Given the description of an element on the screen output the (x, y) to click on. 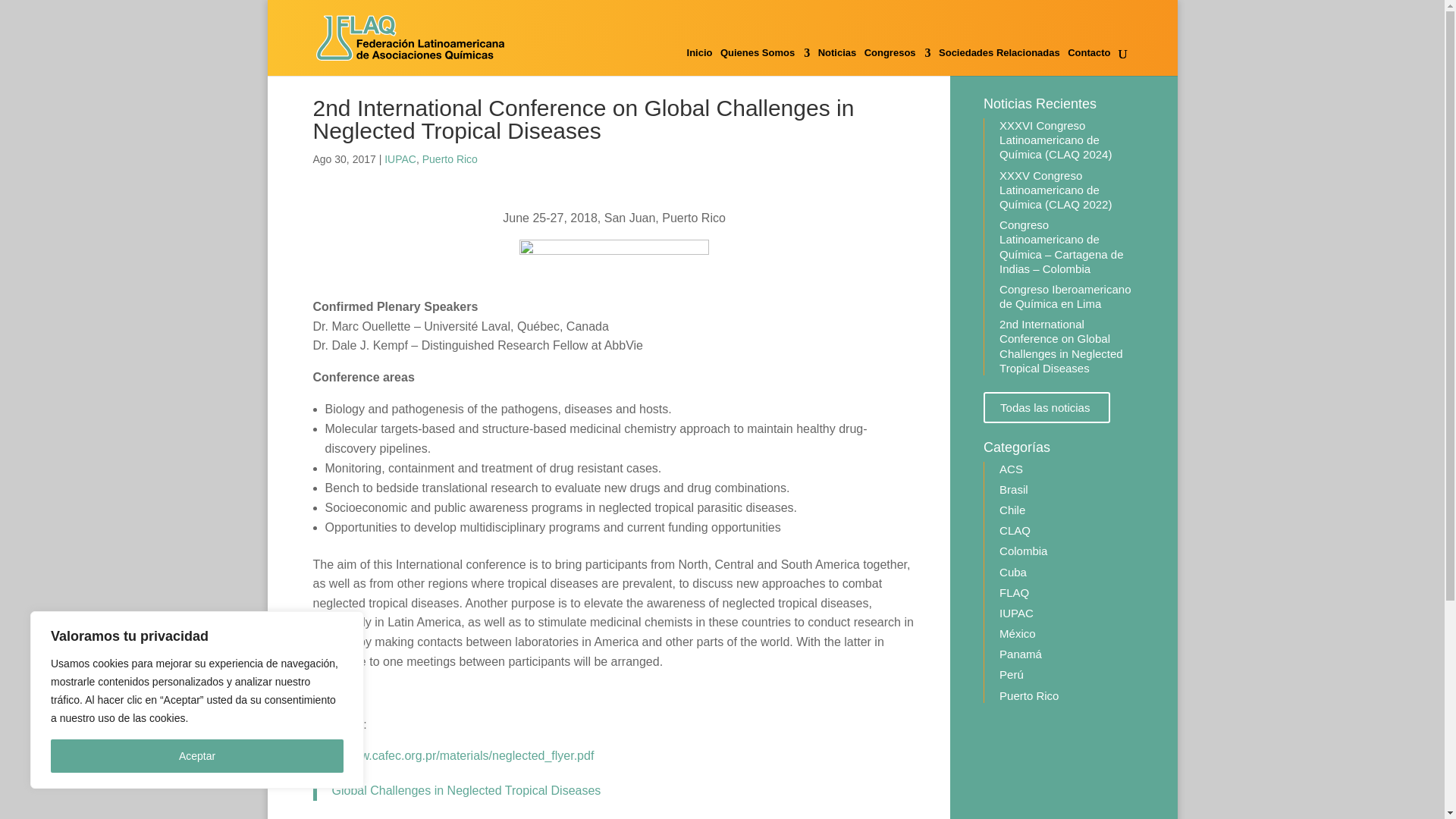
IUPAC (400, 159)
Sociedades Relacionadas (999, 61)
Aceptar (196, 756)
Noticias (837, 61)
Inicio (700, 61)
Quienes Somos (764, 61)
Congresos (897, 61)
Contacto (1088, 61)
